Given the description of an element on the screen output the (x, y) to click on. 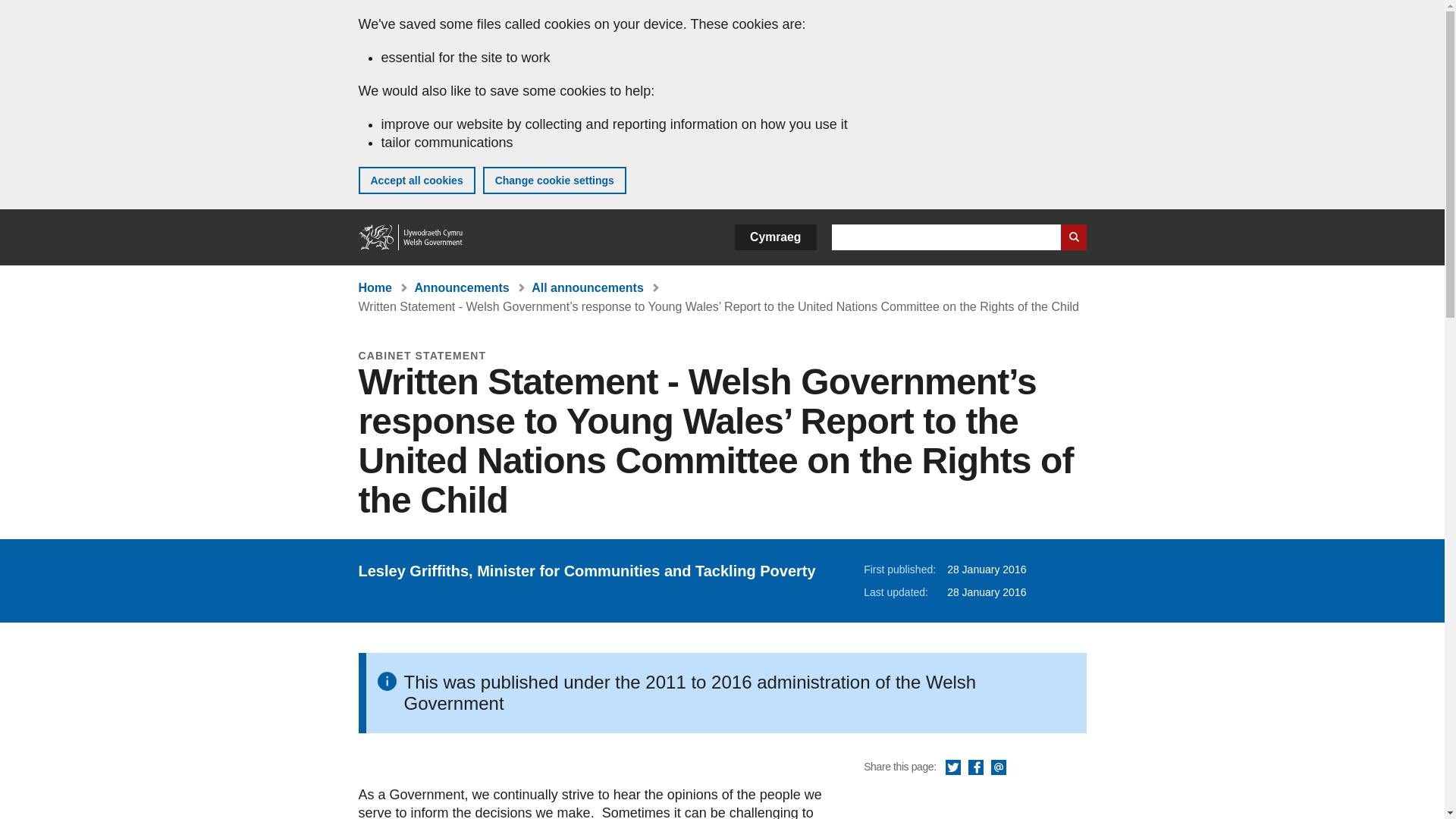
Search website (1072, 237)
Facebook (976, 768)
Change cookie settings (554, 180)
Twitter (952, 768)
Search website (1072, 237)
Cymraeg (775, 237)
Home (374, 287)
Email (998, 768)
Announcements (460, 287)
All announcements (587, 287)
